Given the description of an element on the screen output the (x, y) to click on. 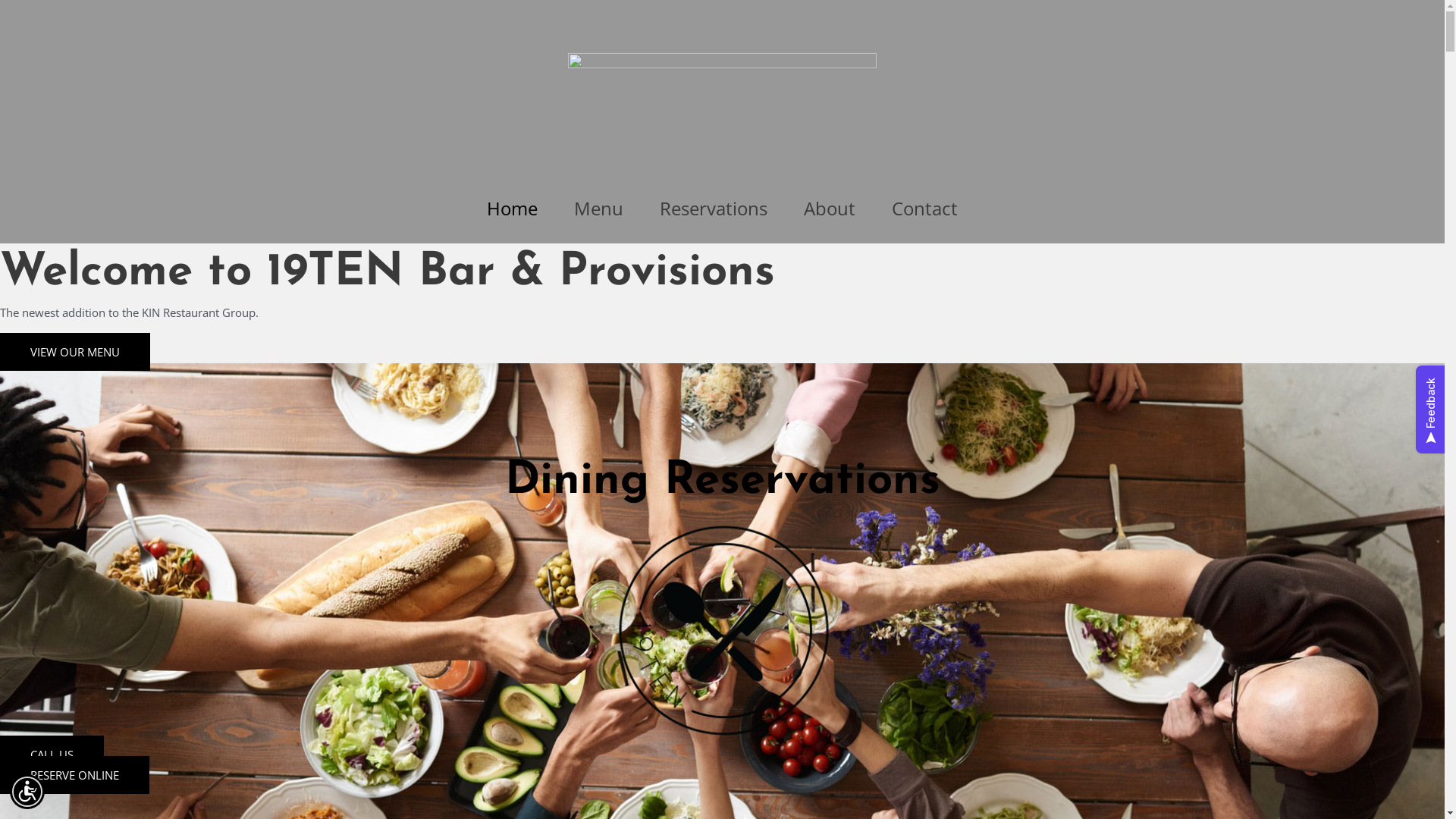
RESERVE ONLINE Element type: text (74, 774)
Reservations Element type: text (713, 208)
About Element type: text (829, 208)
Menu Element type: text (598, 208)
CALL US Element type: text (51, 754)
Contact Element type: text (924, 208)
VIEW OUR MENU Element type: text (75, 351)
Home Element type: text (511, 208)
